Given the description of an element on the screen output the (x, y) to click on. 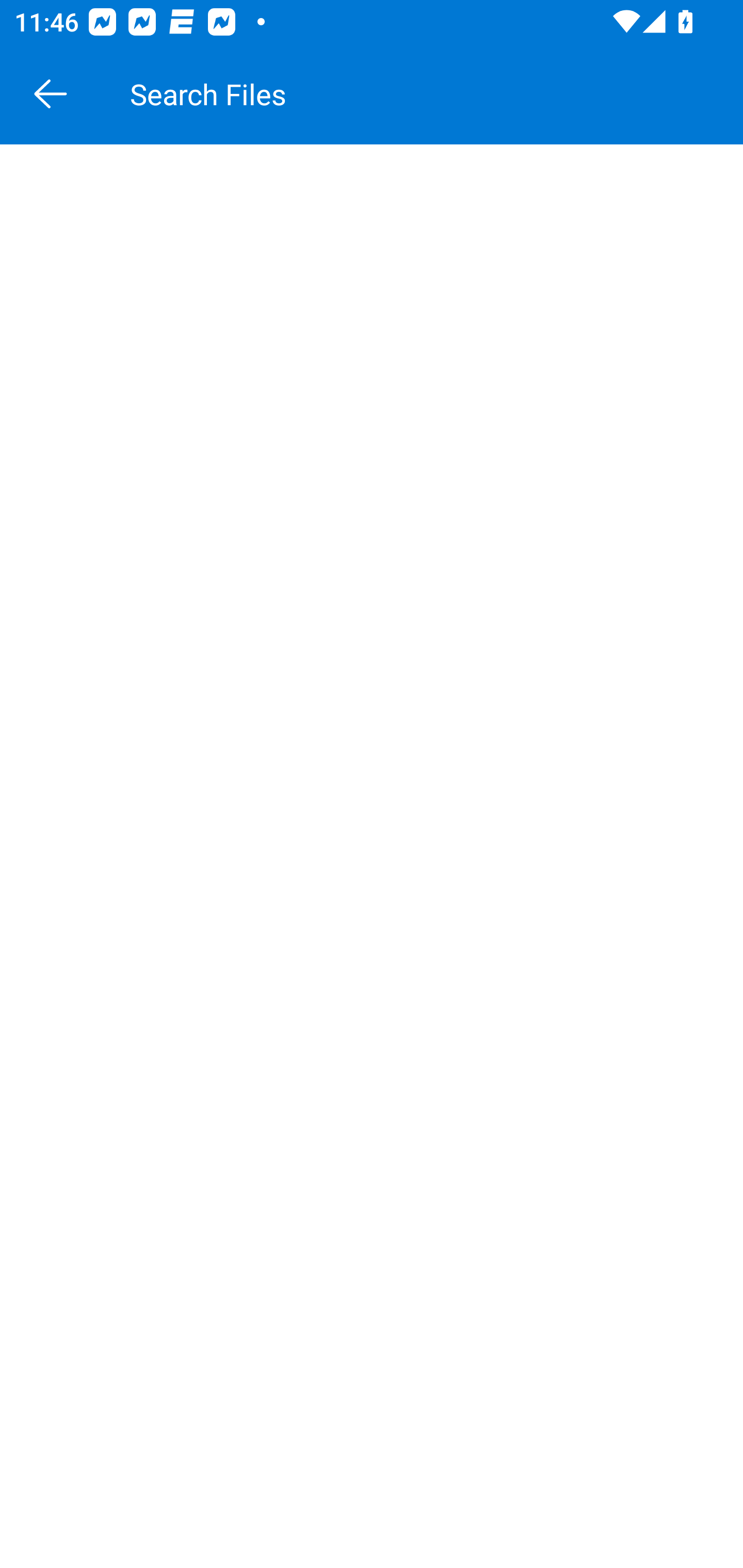
Collapse (50, 93)
Search Files Enter search keyword (432, 93)
